Given the description of an element on the screen output the (x, y) to click on. 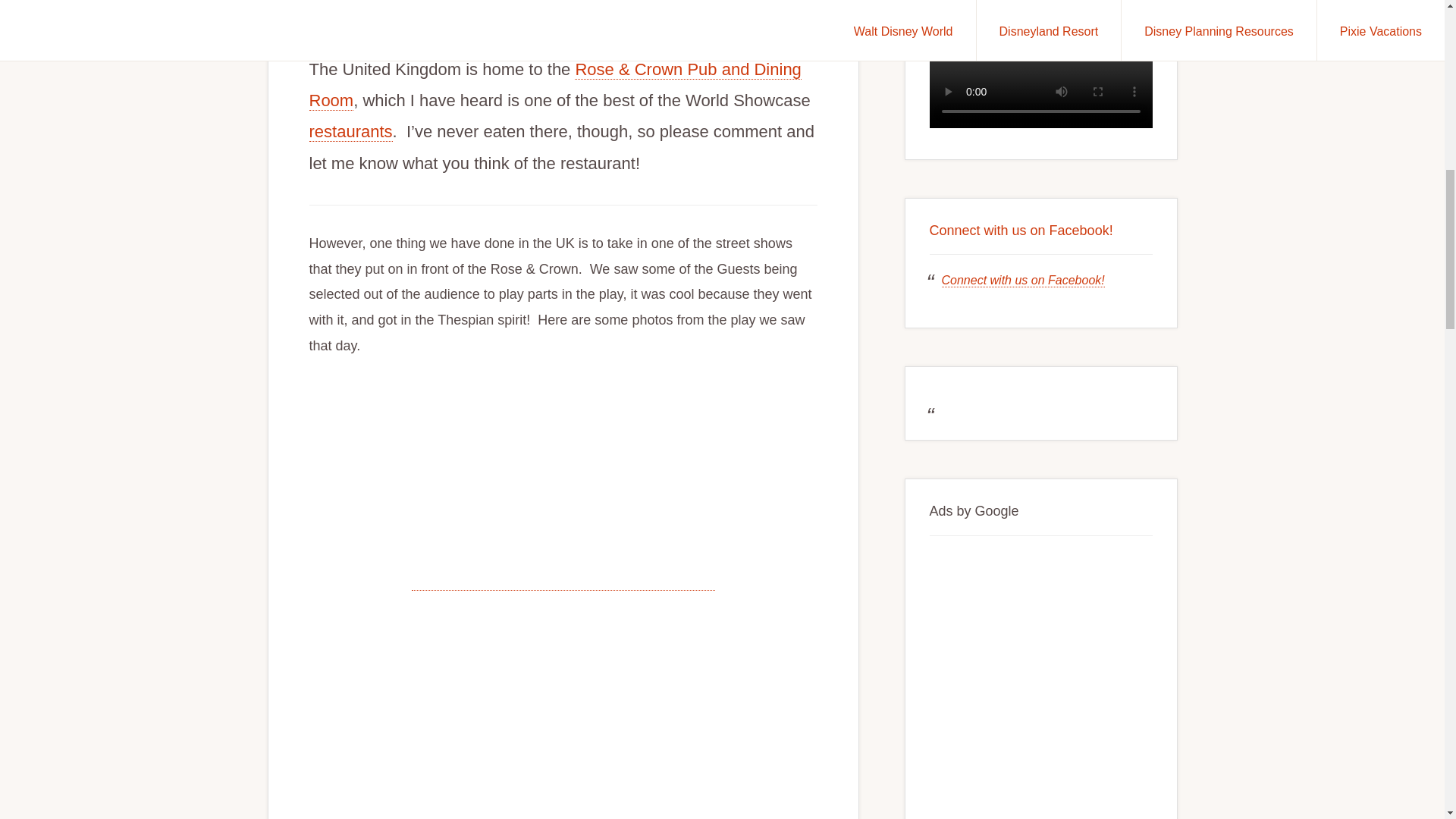
Restaurant (350, 131)
